Given the description of an element on the screen output the (x, y) to click on. 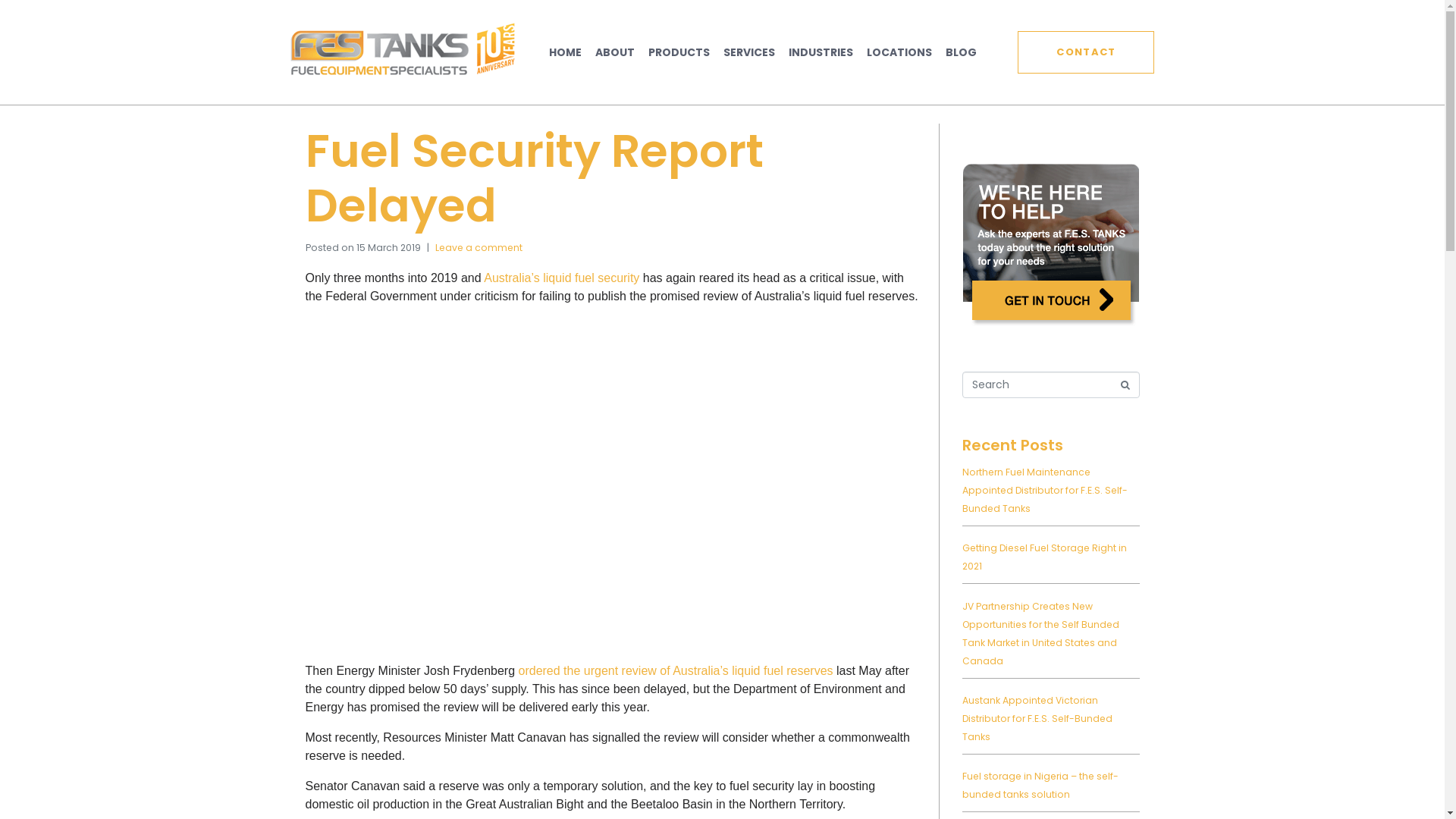
CONTACT Element type: text (1085, 51)
SERVICES Element type: text (749, 51)
HOME Element type: text (565, 51)
Leave a comment Element type: text (478, 247)
ABOUT Element type: text (614, 51)
BLOG Element type: text (960, 51)
Getting Diesel Fuel Storage Right in 2021 Element type: text (1043, 556)
INDUSTRIES Element type: text (820, 51)
LOCATIONS Element type: text (898, 51)
PRODUCTS Element type: text (678, 51)
